Given the description of an element on the screen output the (x, y) to click on. 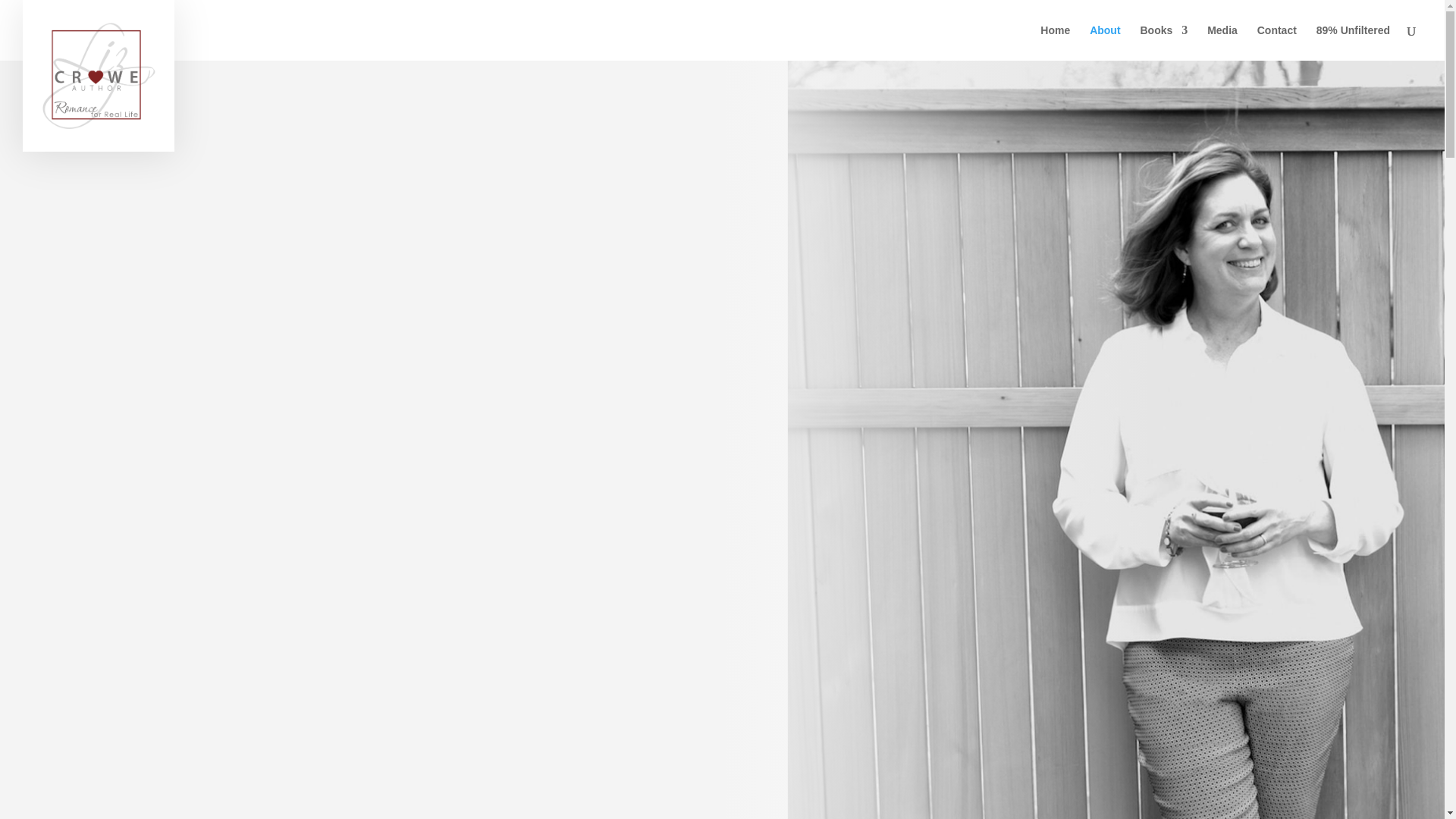
Books (1164, 42)
Contact (1277, 42)
